Given the description of an element on the screen output the (x, y) to click on. 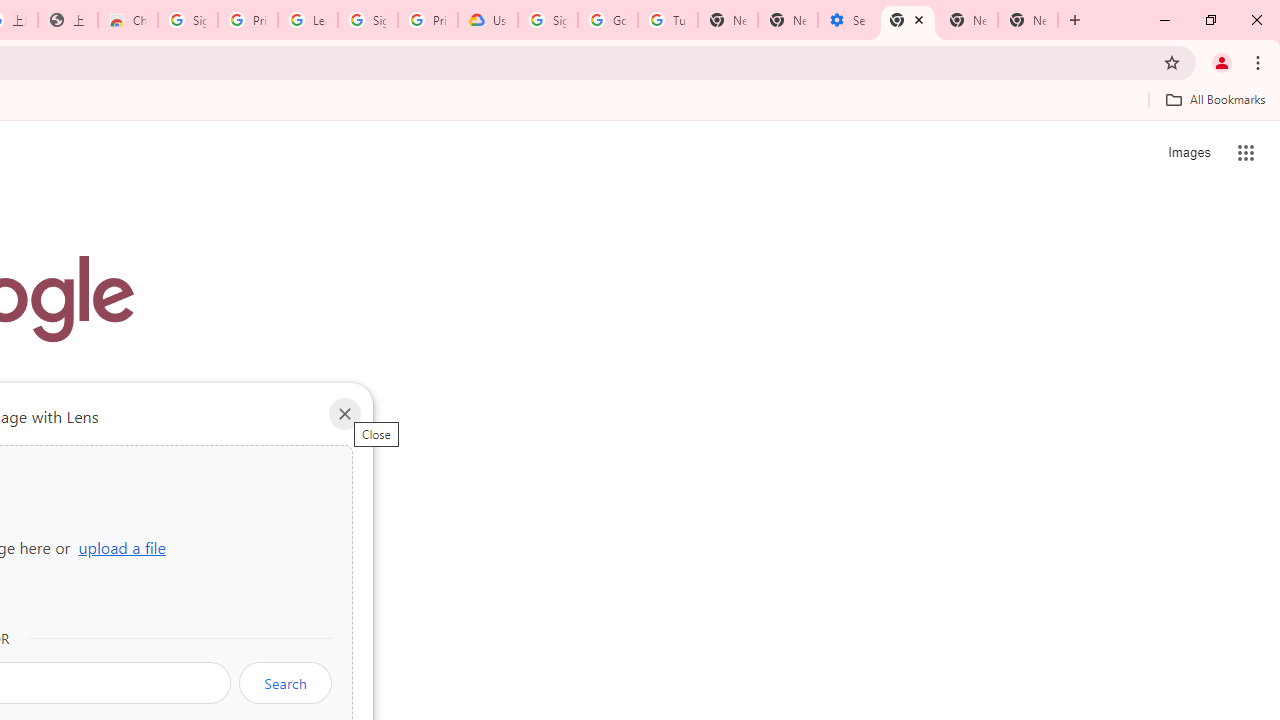
New Tab (1028, 20)
Turn cookies on or off - Computer - Google Account Help (667, 20)
Sign in - Google Accounts (187, 20)
Sign in - Google Accounts (367, 20)
Google Account Help (607, 20)
